Given the description of an element on the screen output the (x, y) to click on. 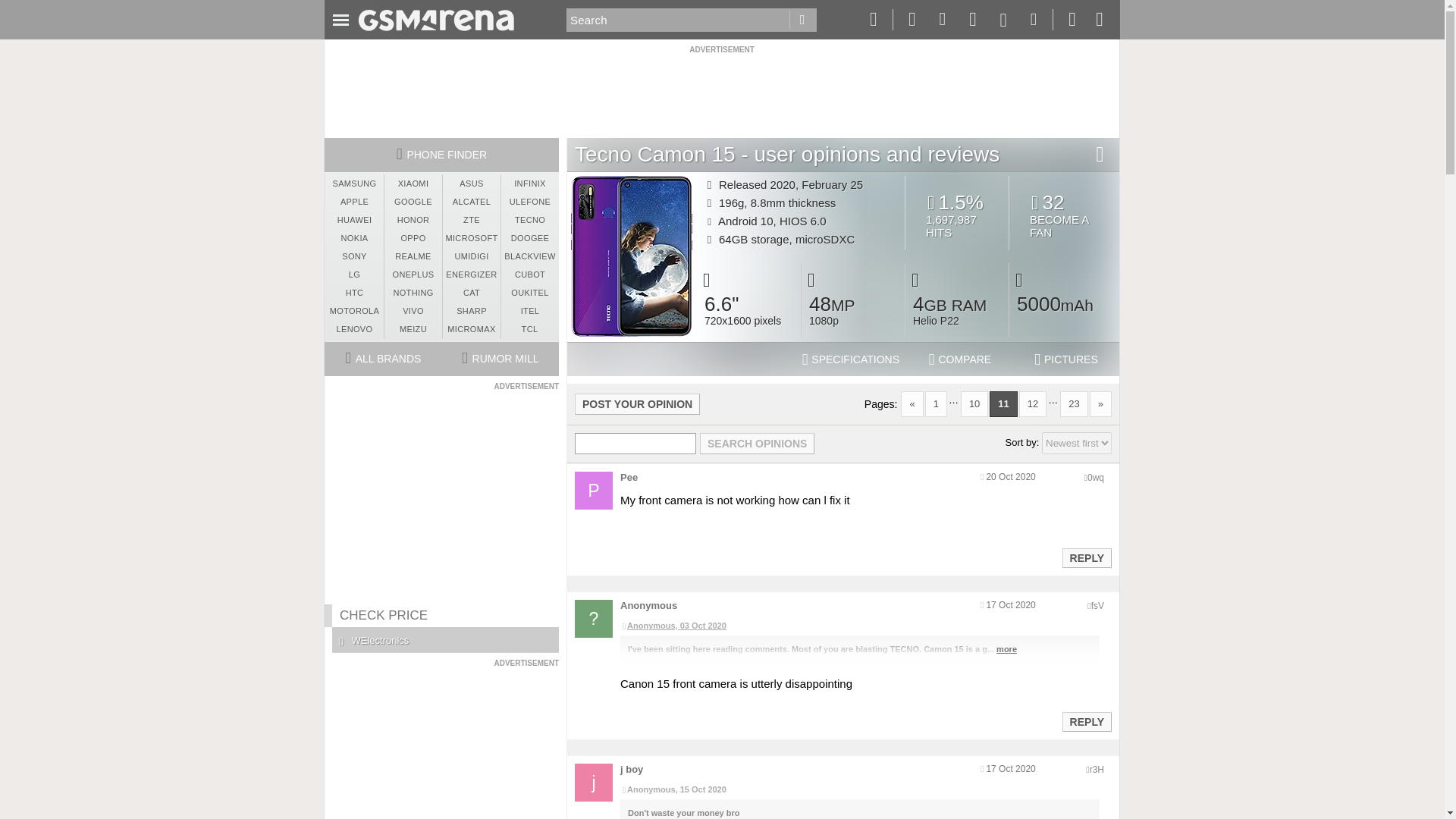
Encoded anonymized location (1095, 477)
Encoded anonymized location (1096, 605)
Go (802, 19)
Encoded anonymized location (1096, 769)
PICTURES (1066, 359)
Go (802, 19)
Search opinions (756, 443)
Tecno Camon 15 phone specifications (850, 359)
COMPARE (960, 359)
Sort comments by (1077, 443)
SPECIFICATIONS (850, 359)
Reply to this post (1064, 214)
Reply to this post (1086, 558)
